Given the description of an element on the screen output the (x, y) to click on. 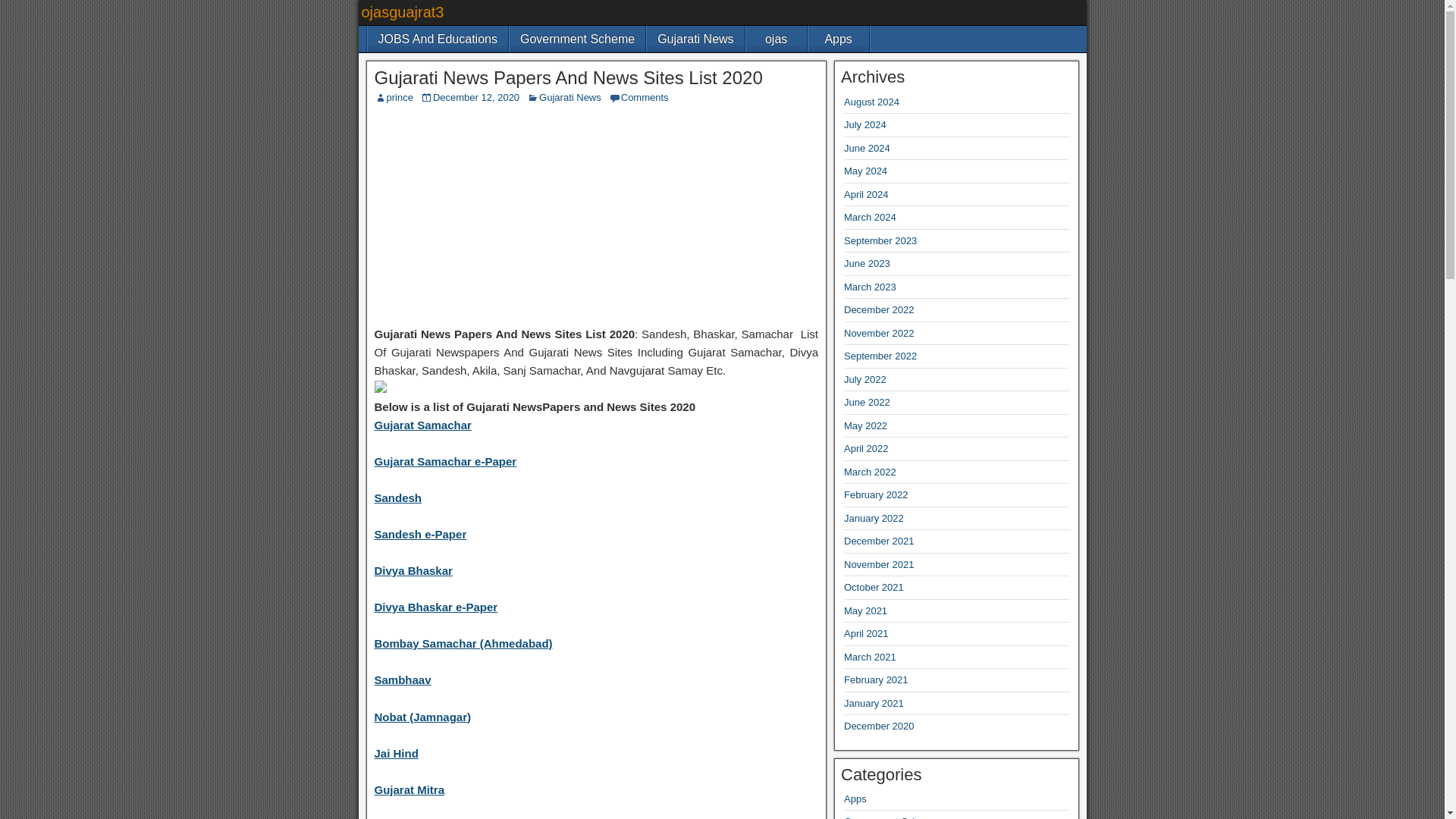
Gujarat Mitra (409, 789)
Comments (644, 97)
ojas (775, 38)
JOBS And Educations (436, 38)
Gujarat Samachar e-Paper (445, 461)
Apps (838, 38)
Gujarat Samachar (422, 424)
Gujarati News (695, 38)
Sambhaav (402, 679)
December 12, 2020 (475, 97)
